Given the description of an element on the screen output the (x, y) to click on. 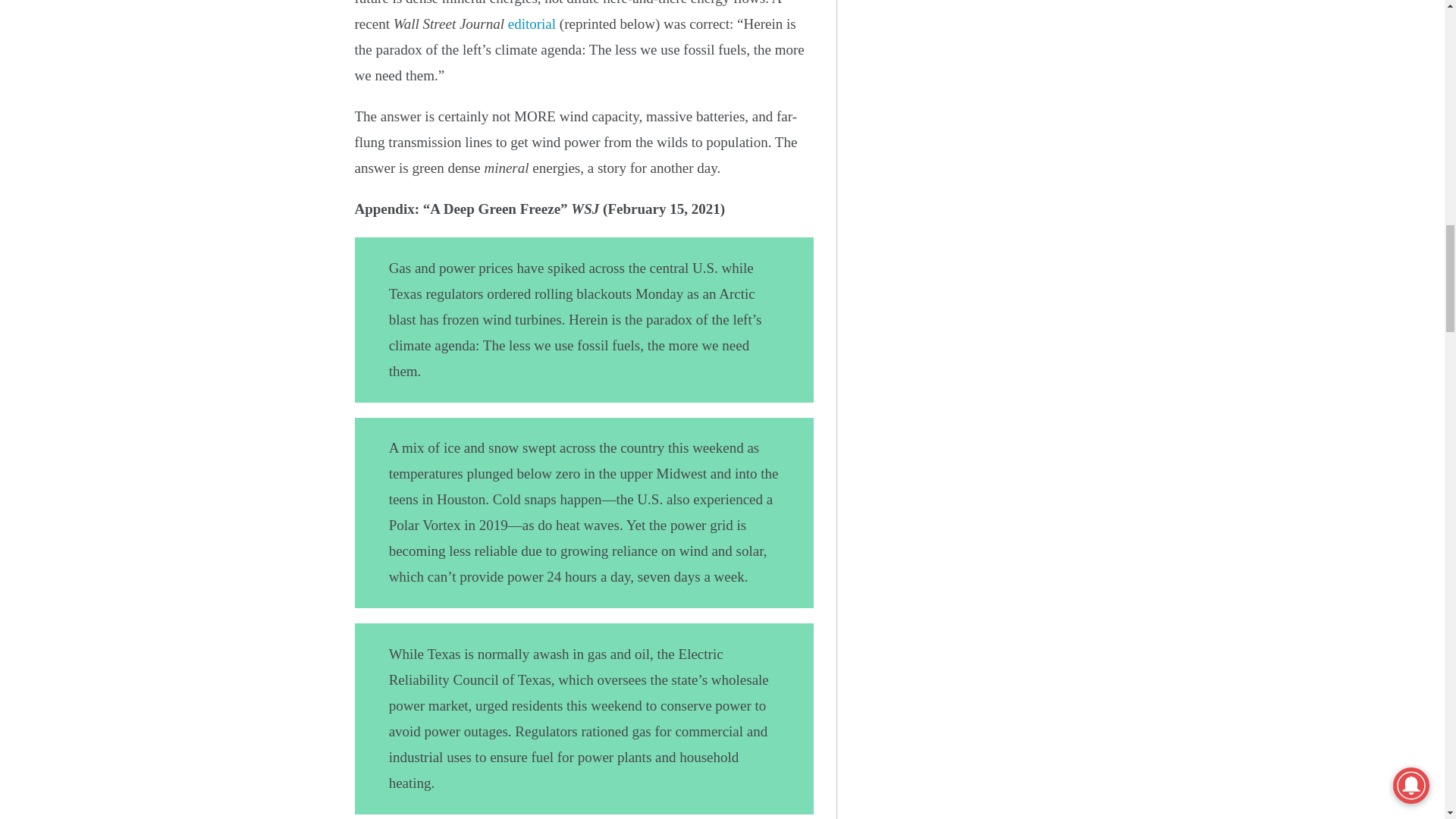
editorial (532, 23)
